Given the description of an element on the screen output the (x, y) to click on. 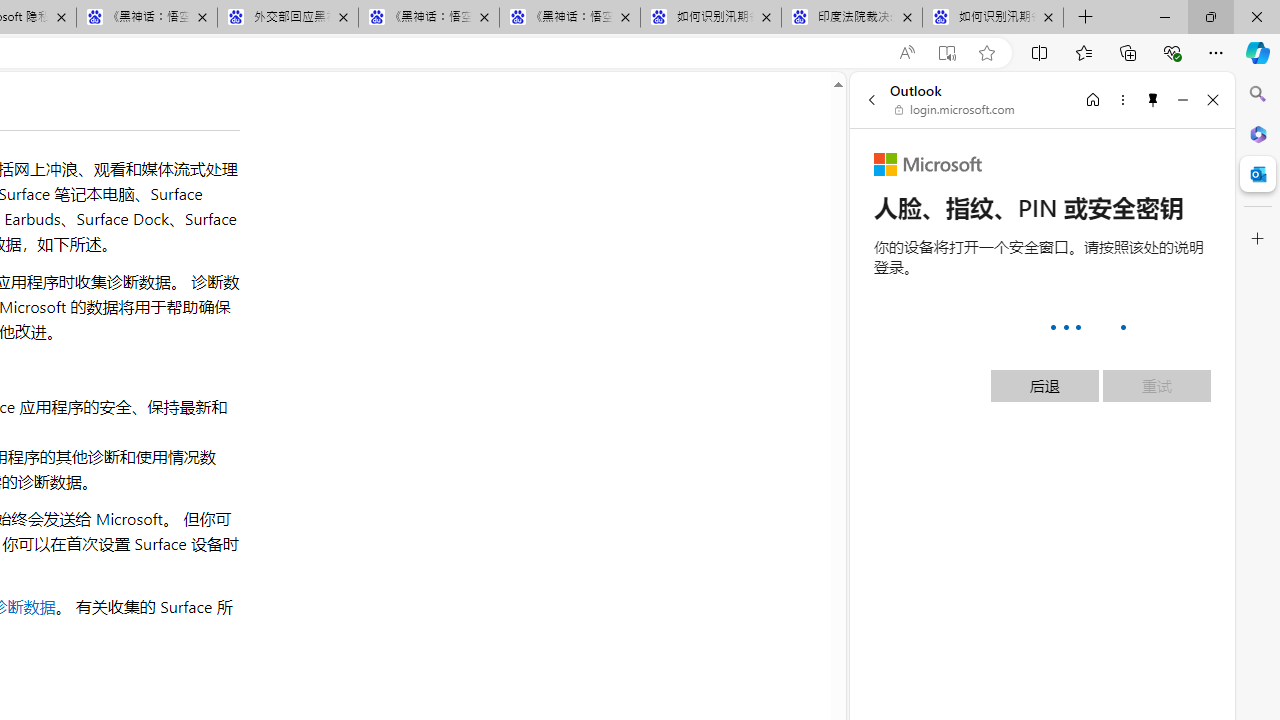
Unpin side pane (1153, 99)
